Given the description of an element on the screen output the (x, y) to click on. 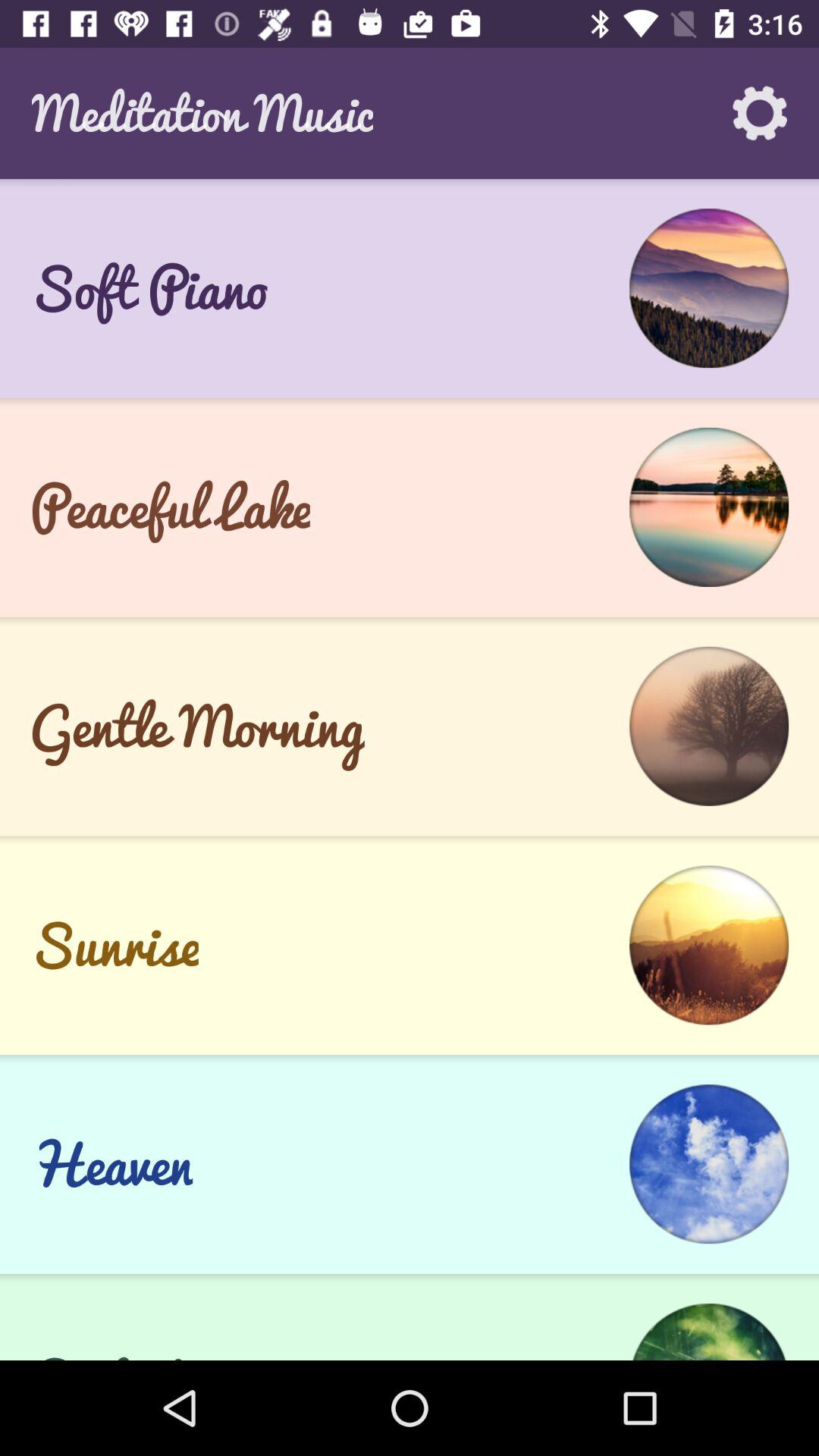
turn on heaven icon (111, 1164)
